Given the description of an element on the screen output the (x, y) to click on. 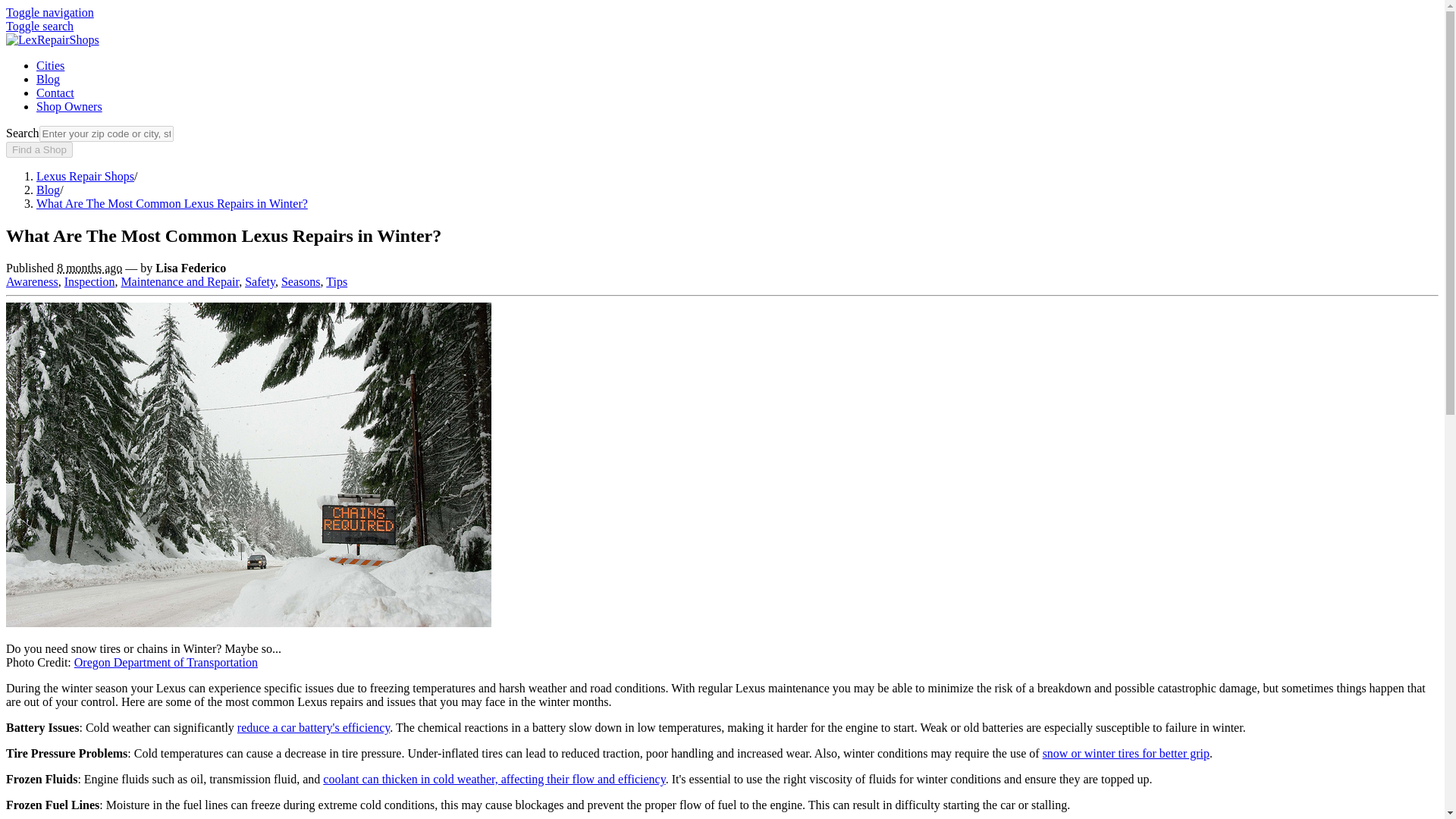
Safety (259, 281)
Inspection (89, 281)
Maintenance and Repair (179, 281)
LexRepairShops (52, 39)
Oregon Department of Transportation (165, 662)
Find a Shop (38, 149)
Tips (336, 281)
snow or winter tires for better grip (1125, 753)
What Are The Most Common Lexus Repairs in Winter? (171, 203)
Awareness (31, 281)
